Given the description of an element on the screen output the (x, y) to click on. 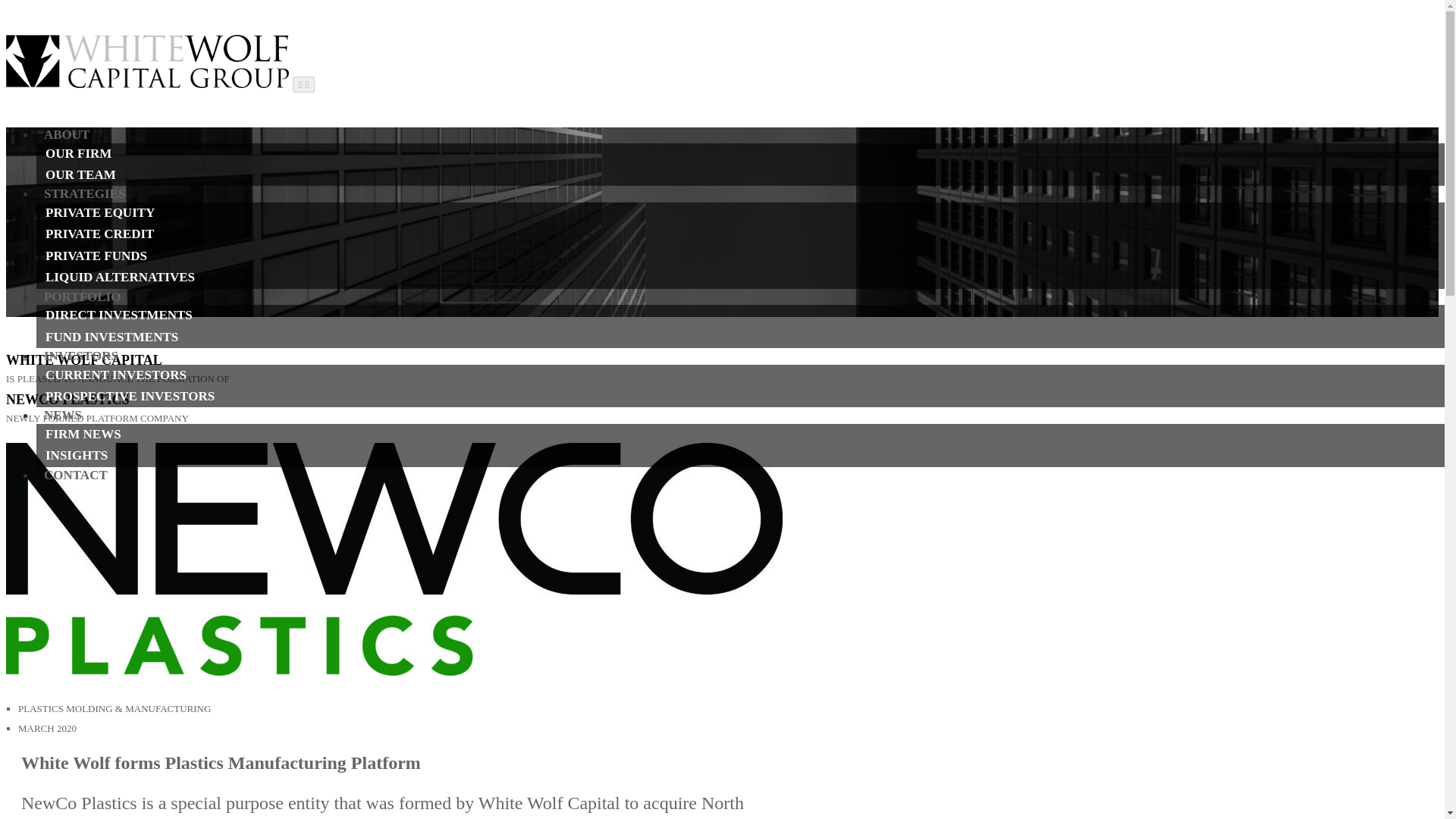
STRATEGIES (84, 204)
CONTACT (71, 486)
INVESTORS (80, 365)
PORTFOLIO (82, 305)
NEWS (62, 426)
ABOUT (66, 145)
